Given the description of an element on the screen output the (x, y) to click on. 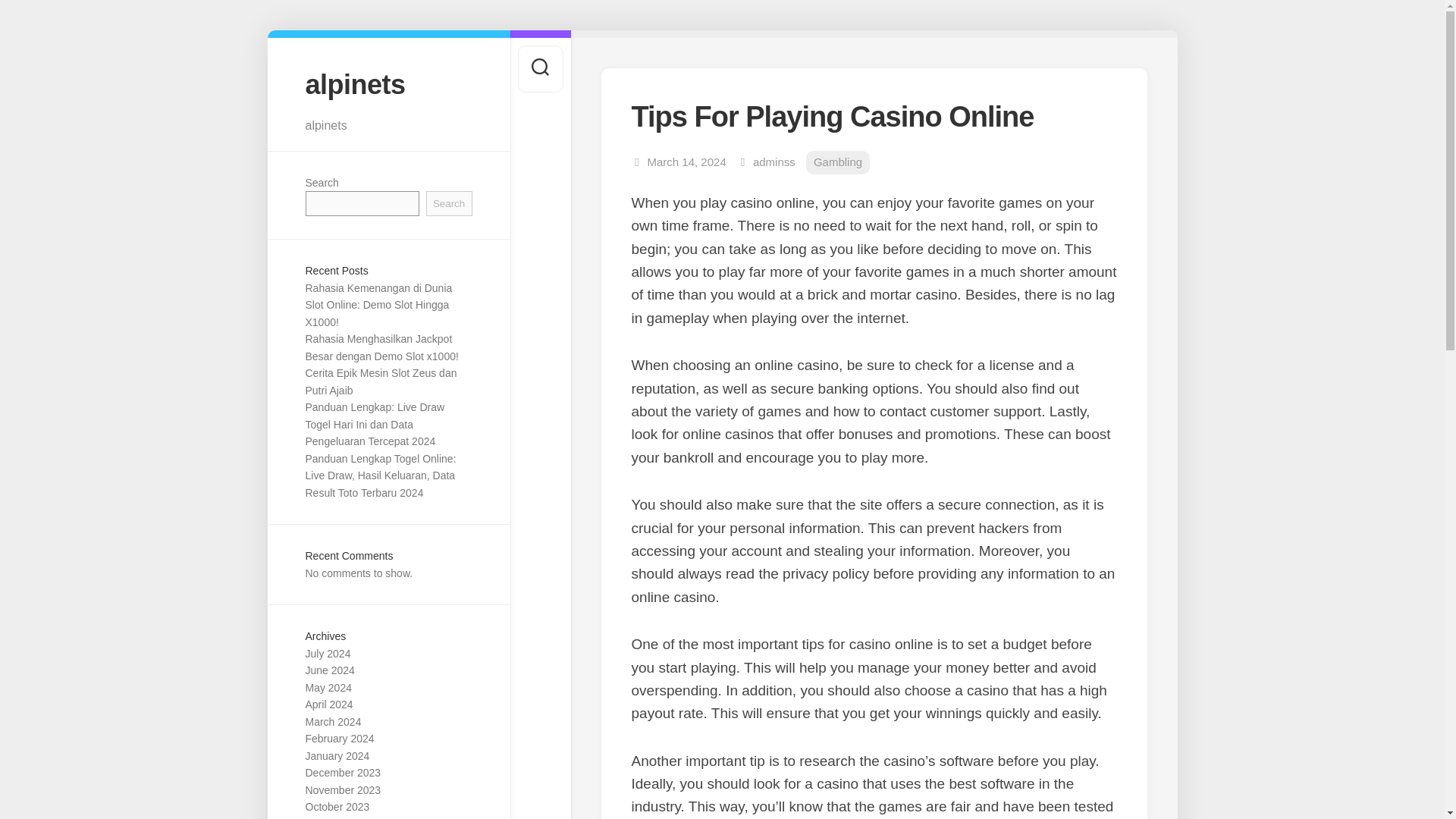
Search (448, 203)
Cerita Epik Mesin Slot Zeus dan Putri Ajaib (380, 381)
Gambling (837, 162)
January 2024 (336, 756)
June 2024 (328, 670)
April 2024 (328, 704)
adminss (773, 161)
July 2024 (327, 653)
alpinets (387, 83)
October 2023 (336, 806)
Posts by adminss (773, 161)
